Given the description of an element on the screen output the (x, y) to click on. 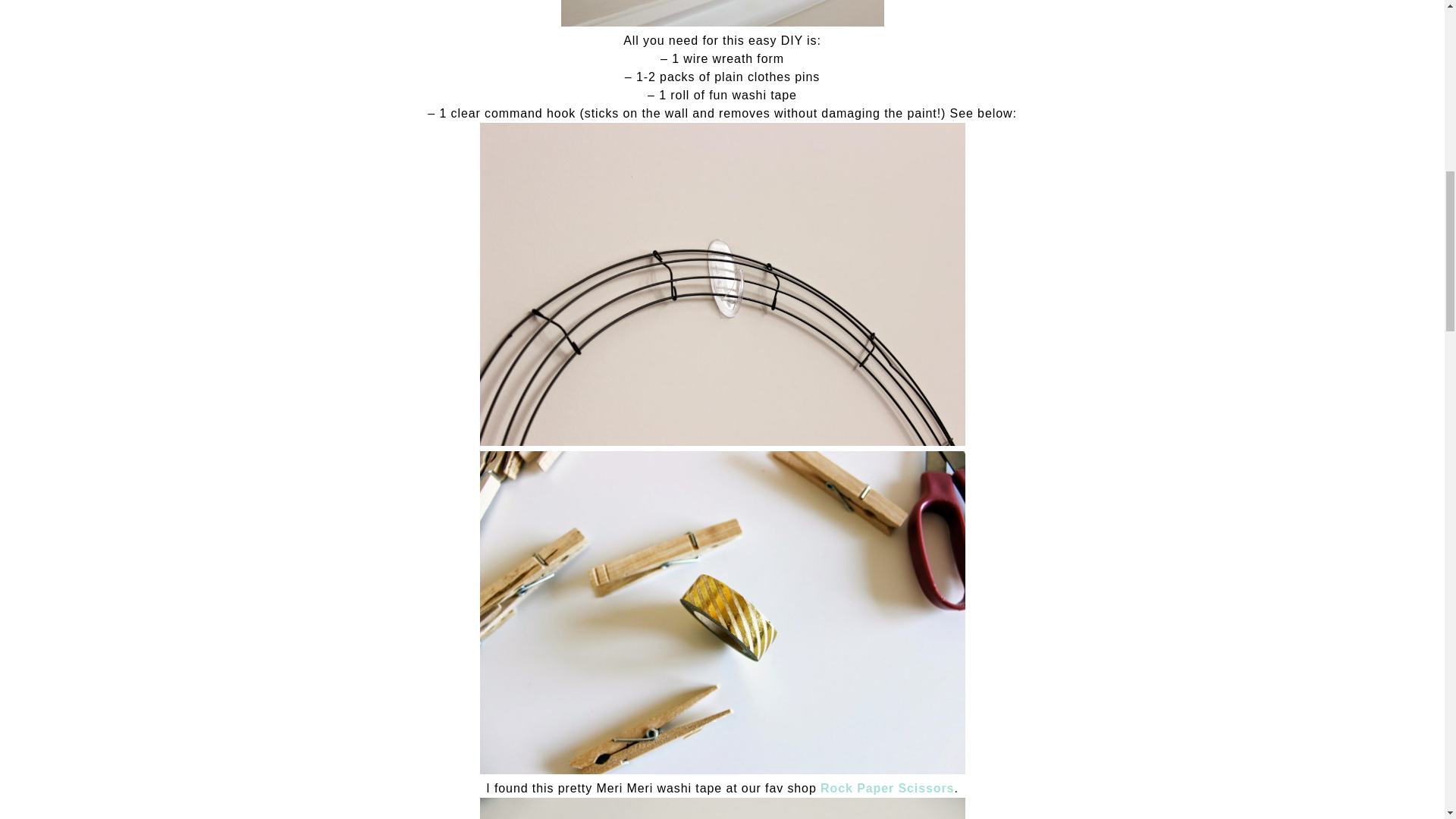
Rock Paper Scissors (887, 788)
